Given the description of an element on the screen output the (x, y) to click on. 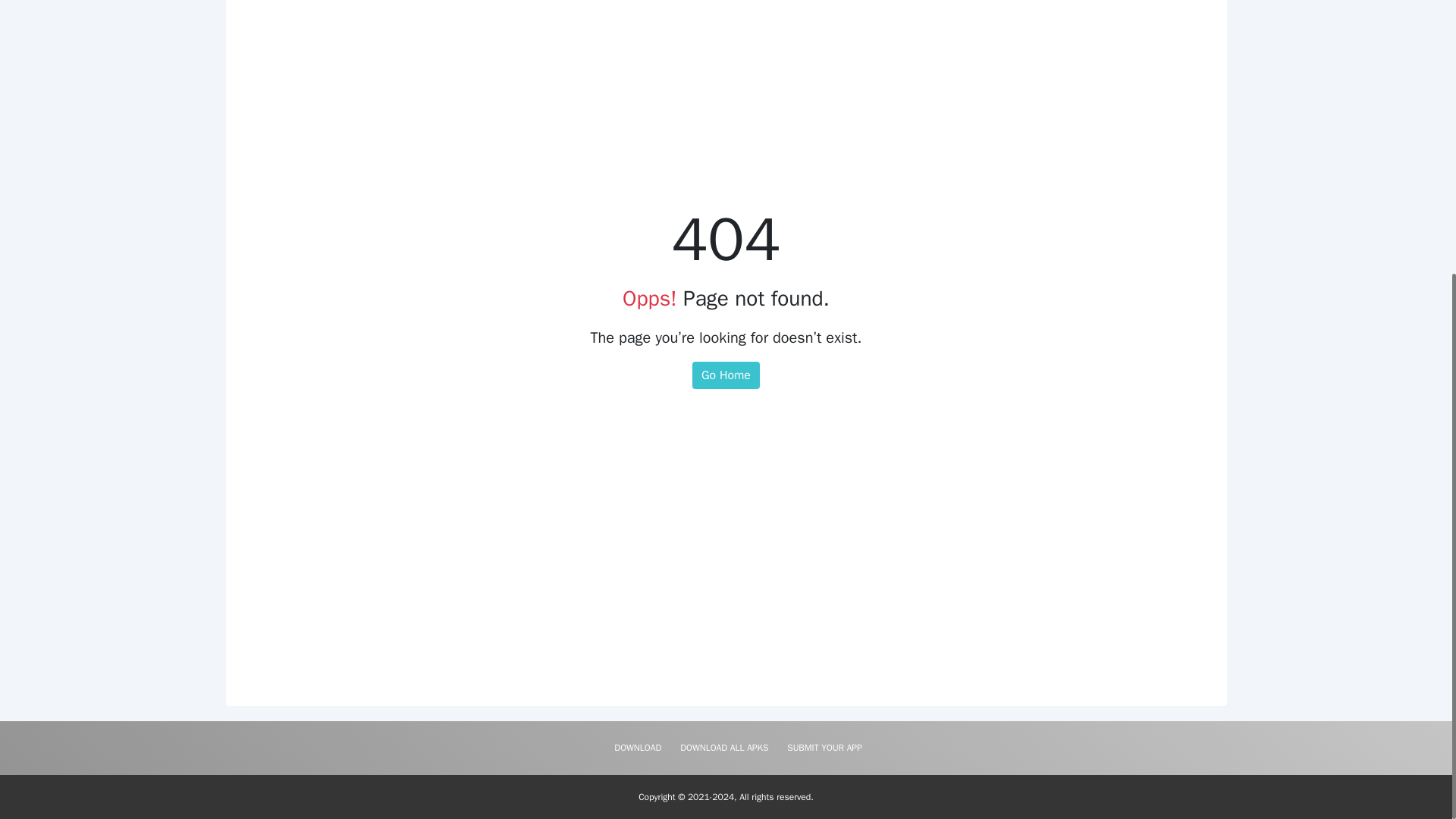
SUBMIT YOUR APP (823, 747)
DOWNLOAD ALL APKS (724, 747)
Go Home (726, 375)
DOWNLOAD (637, 747)
